Given the description of an element on the screen output the (x, y) to click on. 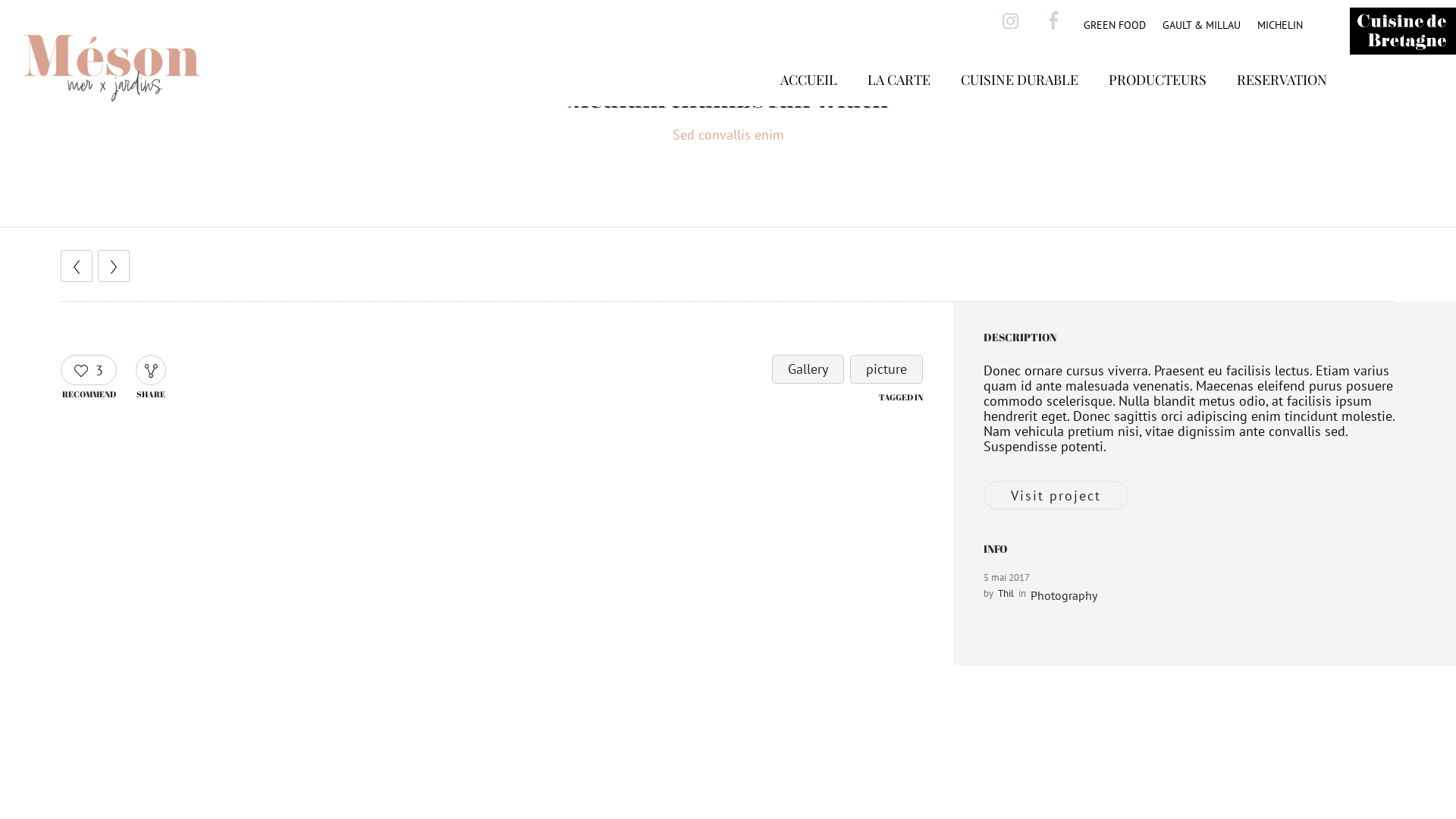
ACCUEIL Element type: text (808, 102)
PRODUCTEURS Element type: text (1157, 102)
picture Element type: text (886, 368)
CUISINE DURABLE Element type: text (1019, 102)
Thil Element type: text (1005, 593)
Photography Element type: text (1063, 595)
Gallery Element type: text (807, 368)
RESERVATION Element type: text (1281, 102)
GAULT & MILLAU Element type: text (1201, 24)
LA CARTE Element type: text (898, 102)
MICHELIN Element type: text (1279, 24)
GREEN FOOD Element type: text (1114, 24)
Visit project Element type: text (1055, 494)
